Given the description of an element on the screen output the (x, y) to click on. 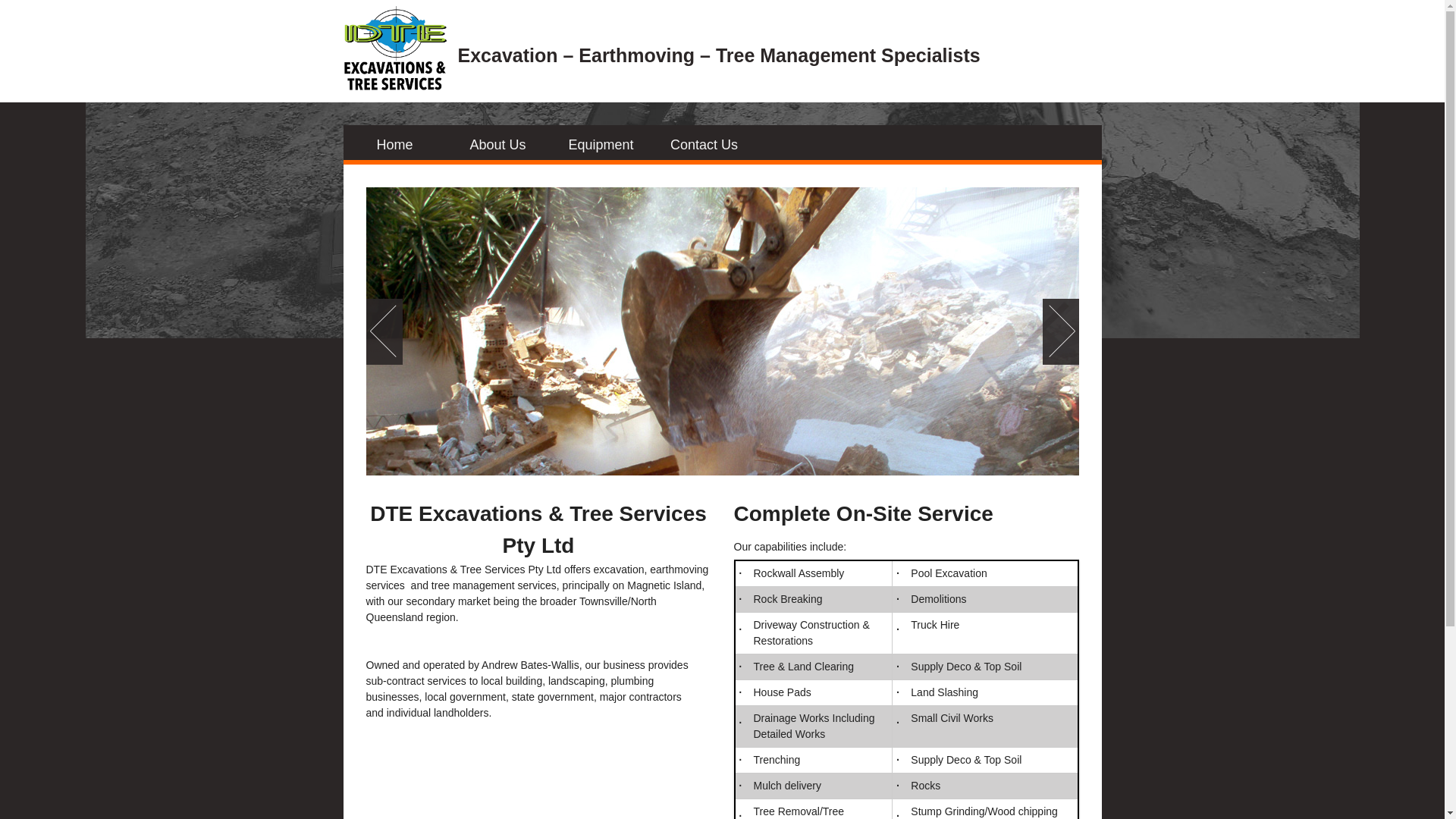
About Us Element type: text (497, 144)
Contact Us Element type: text (703, 144)
Equipment Element type: text (600, 144)
Home Element type: text (393, 144)
